Given the description of an element on the screen output the (x, y) to click on. 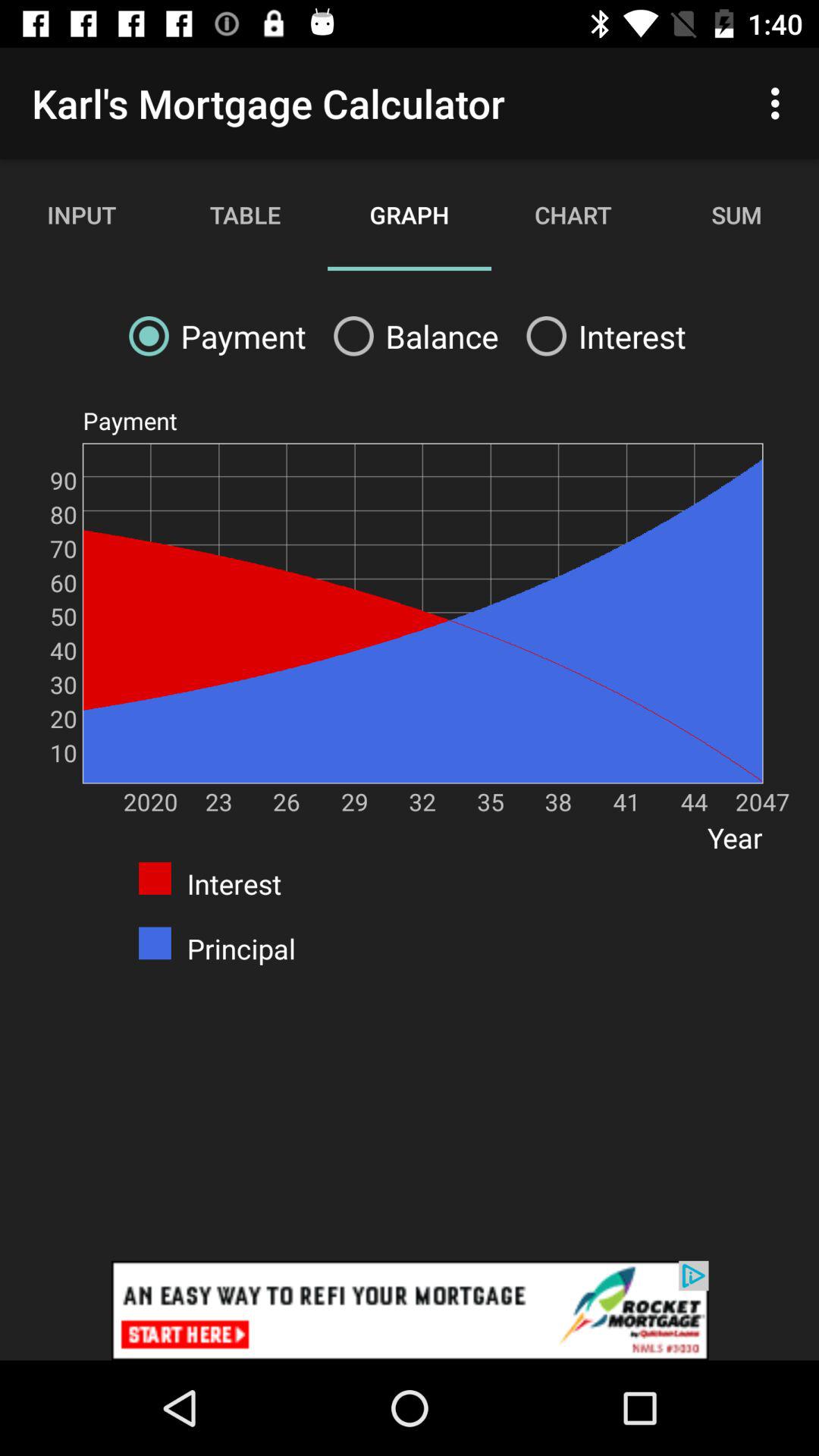
click arrow button (409, 1310)
